Given the description of an element on the screen output the (x, y) to click on. 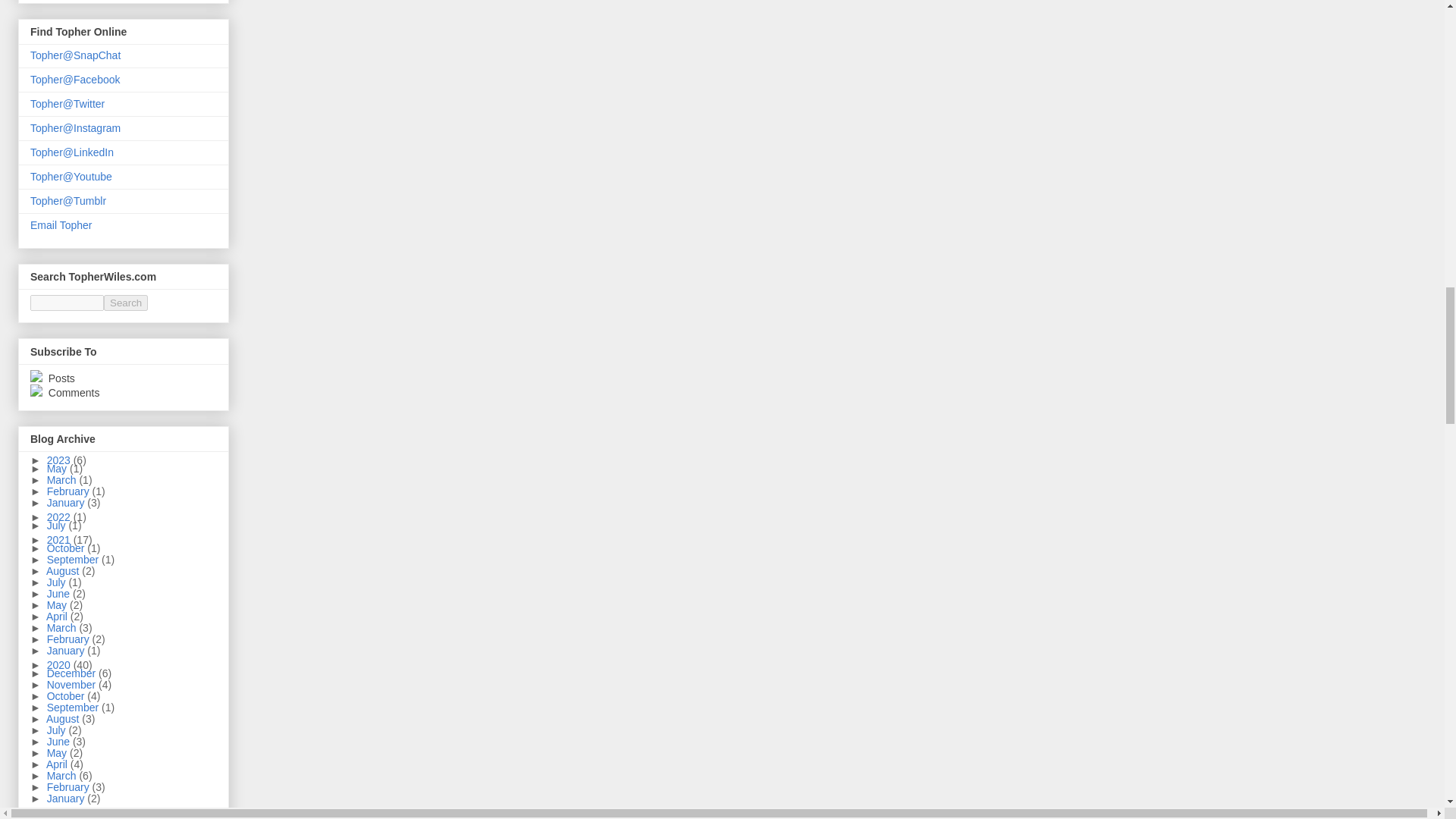
Email Topher (60, 224)
Search (125, 302)
search (125, 302)
Search (125, 302)
search (66, 302)
Search (125, 302)
